Given the description of an element on the screen output the (x, y) to click on. 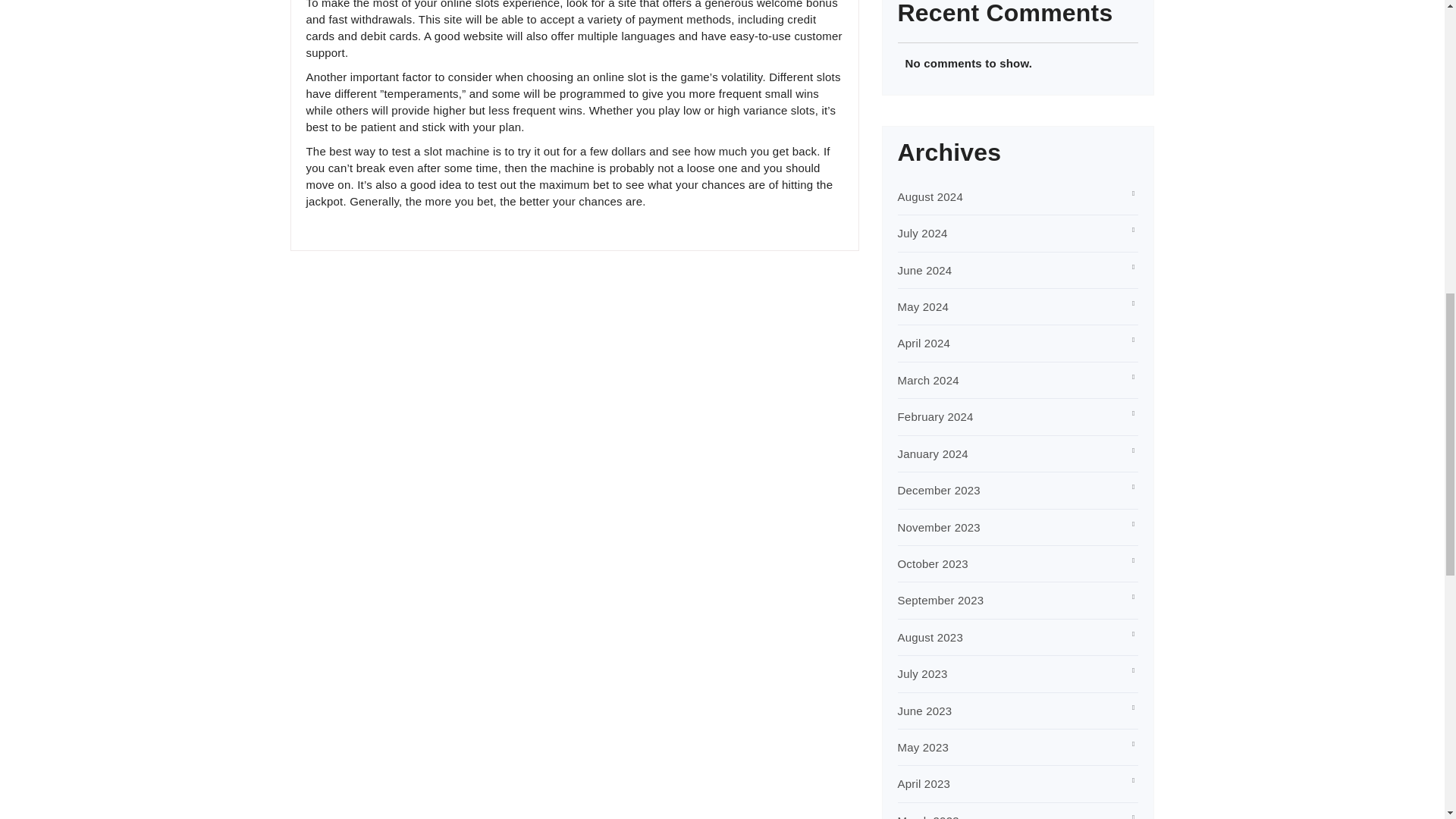
November 2023 (938, 526)
September 2023 (941, 599)
July 2023 (922, 673)
May 2024 (923, 306)
June 2024 (925, 269)
March 2023 (928, 816)
April 2024 (924, 342)
February 2024 (936, 416)
October 2023 (933, 563)
June 2023 (925, 710)
